Given the description of an element on the screen output the (x, y) to click on. 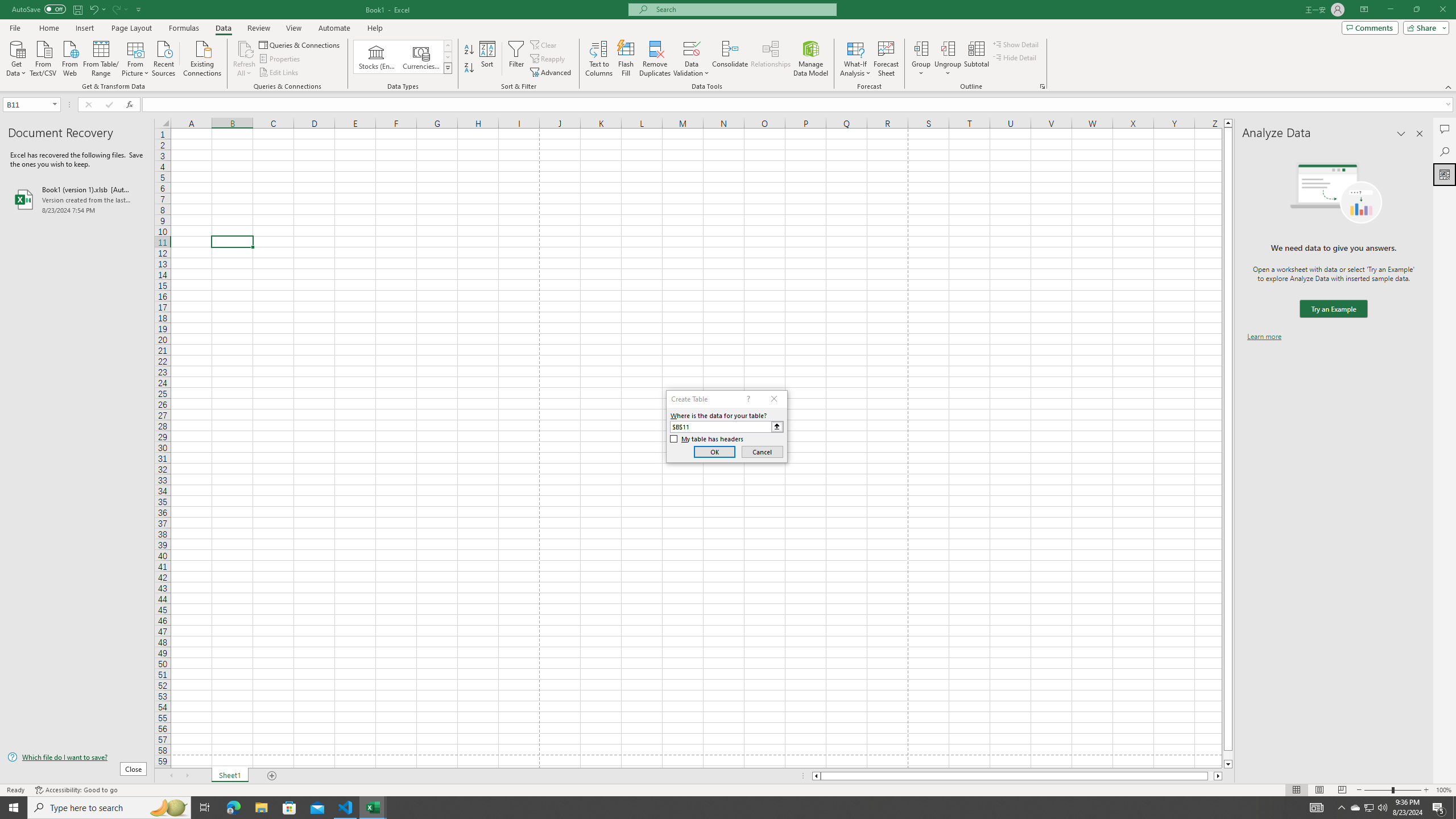
Sort Z to A (469, 67)
Recent Sources (163, 57)
Show Detail (1016, 44)
Existing Connections (202, 57)
